Given the description of an element on the screen output the (x, y) to click on. 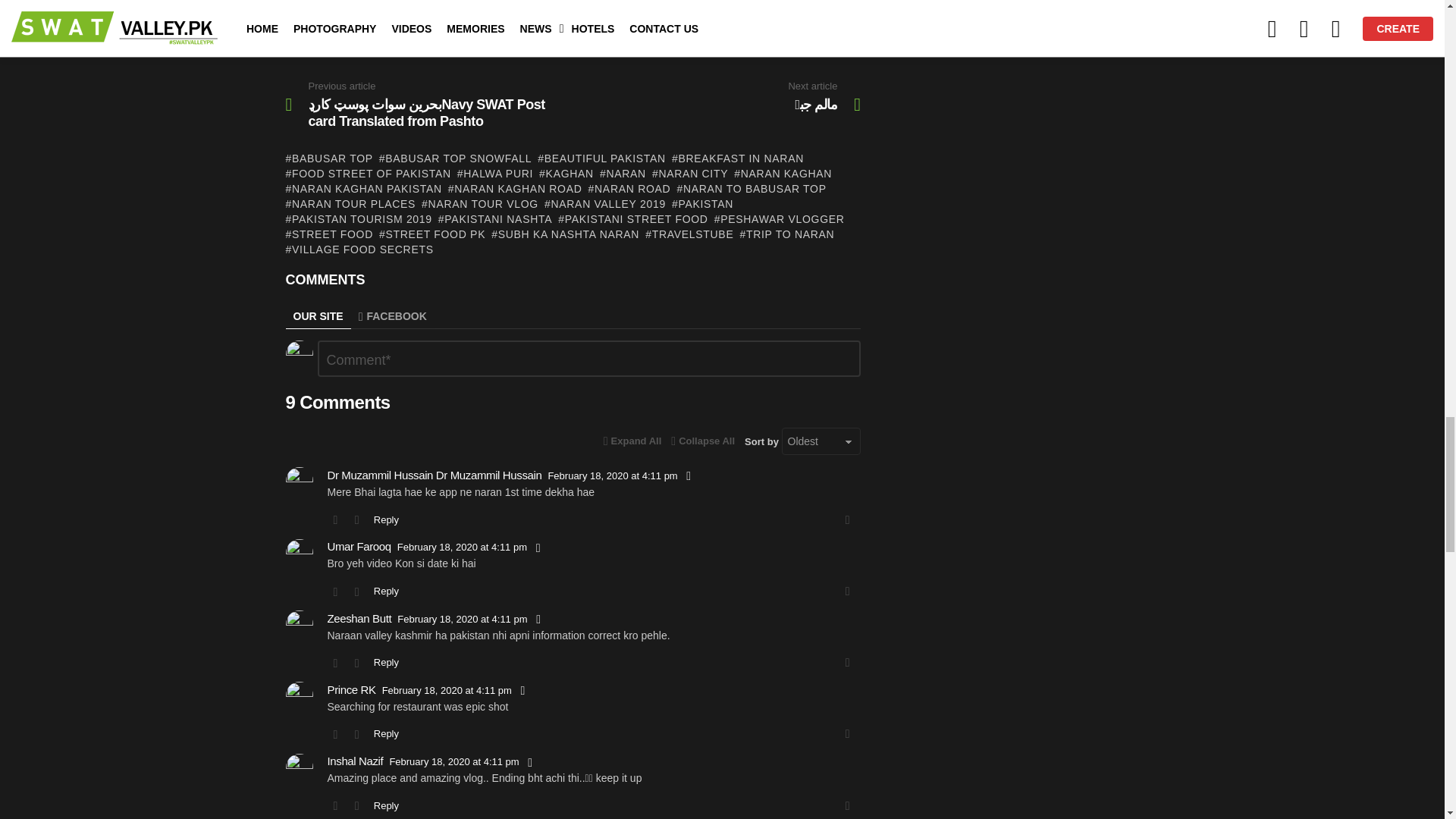
Expand All Replies (703, 441)
Downvote (725, 16)
Upvote (416, 16)
Collapse All Replies (633, 441)
